Given the description of an element on the screen output the (x, y) to click on. 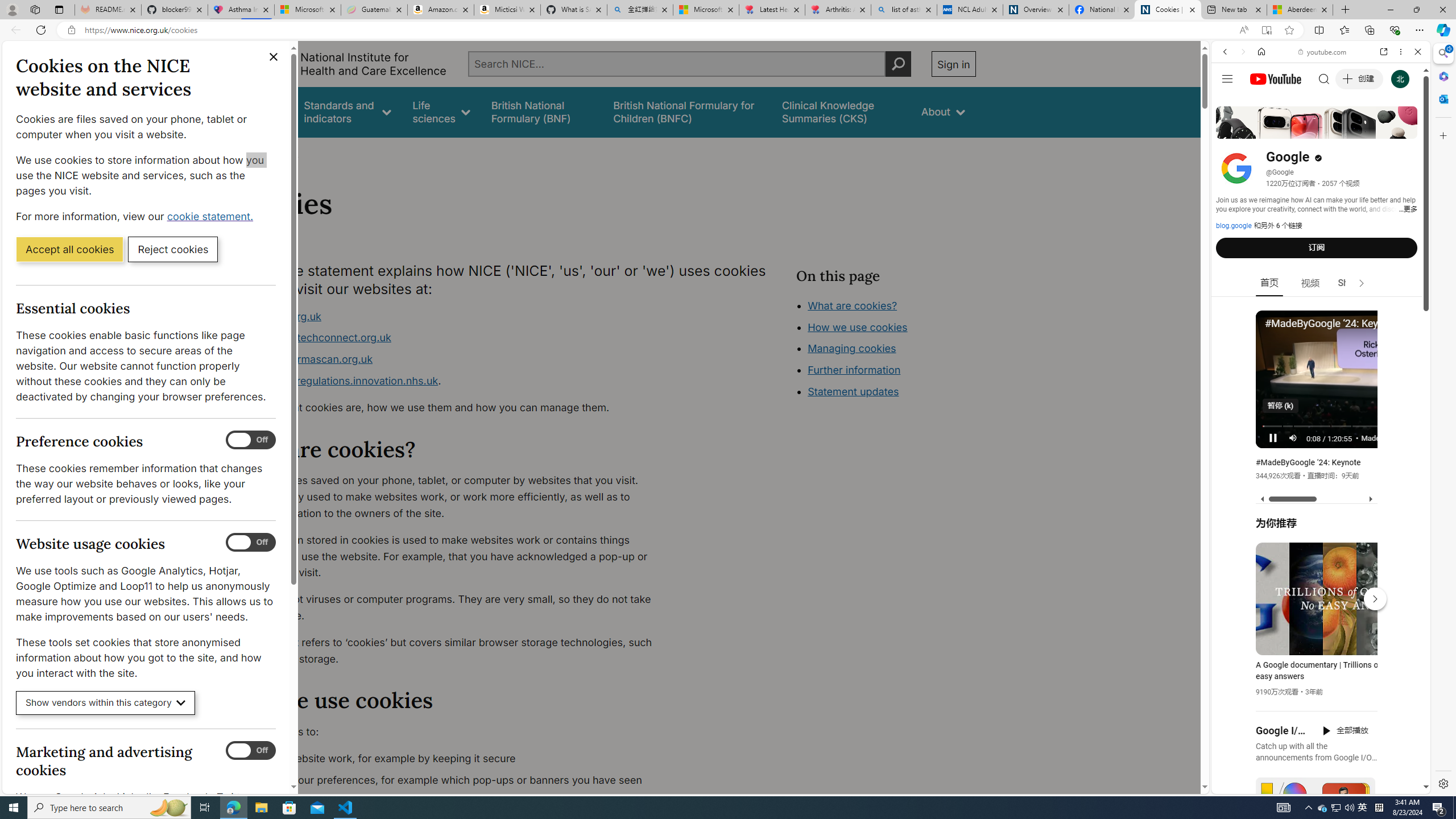
youtube.com (1322, 51)
Class: dict_pnIcon rms_img (1312, 784)
www.ukpharmascan.org.uk (305, 359)
www.nice.org.uk (452, 316)
